Given the description of an element on the screen output the (x, y) to click on. 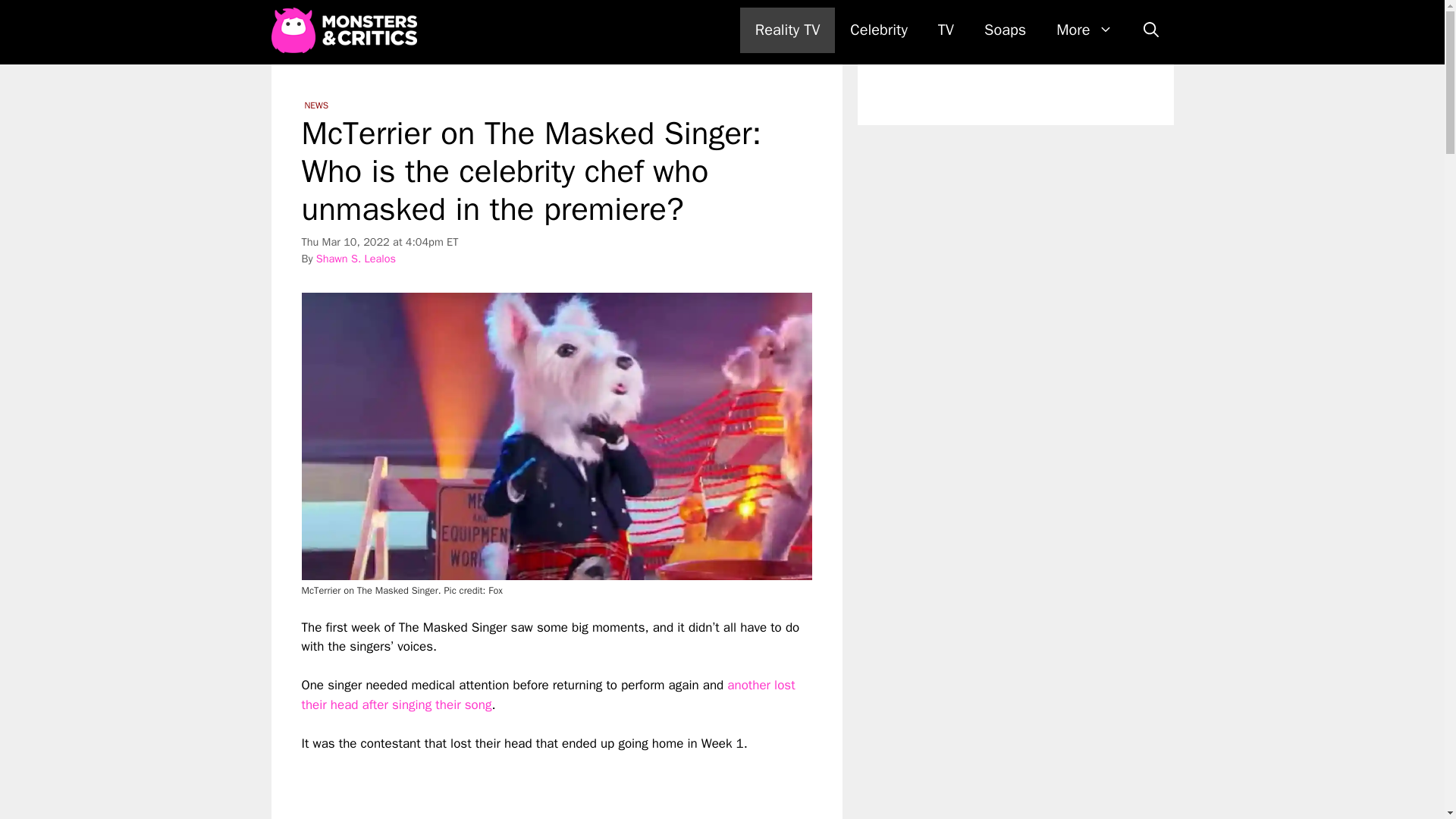
Celebrity (877, 30)
another lost their head after singing their song (547, 694)
More (1083, 30)
YouTube video player (513, 785)
Shawn S. Lealos (355, 258)
Monsters and Critics (343, 30)
Soaps (1005, 30)
Monsters and Critics (347, 30)
TV (946, 30)
View all posts by Shawn S. Lealos (355, 258)
